Given the description of an element on the screen output the (x, y) to click on. 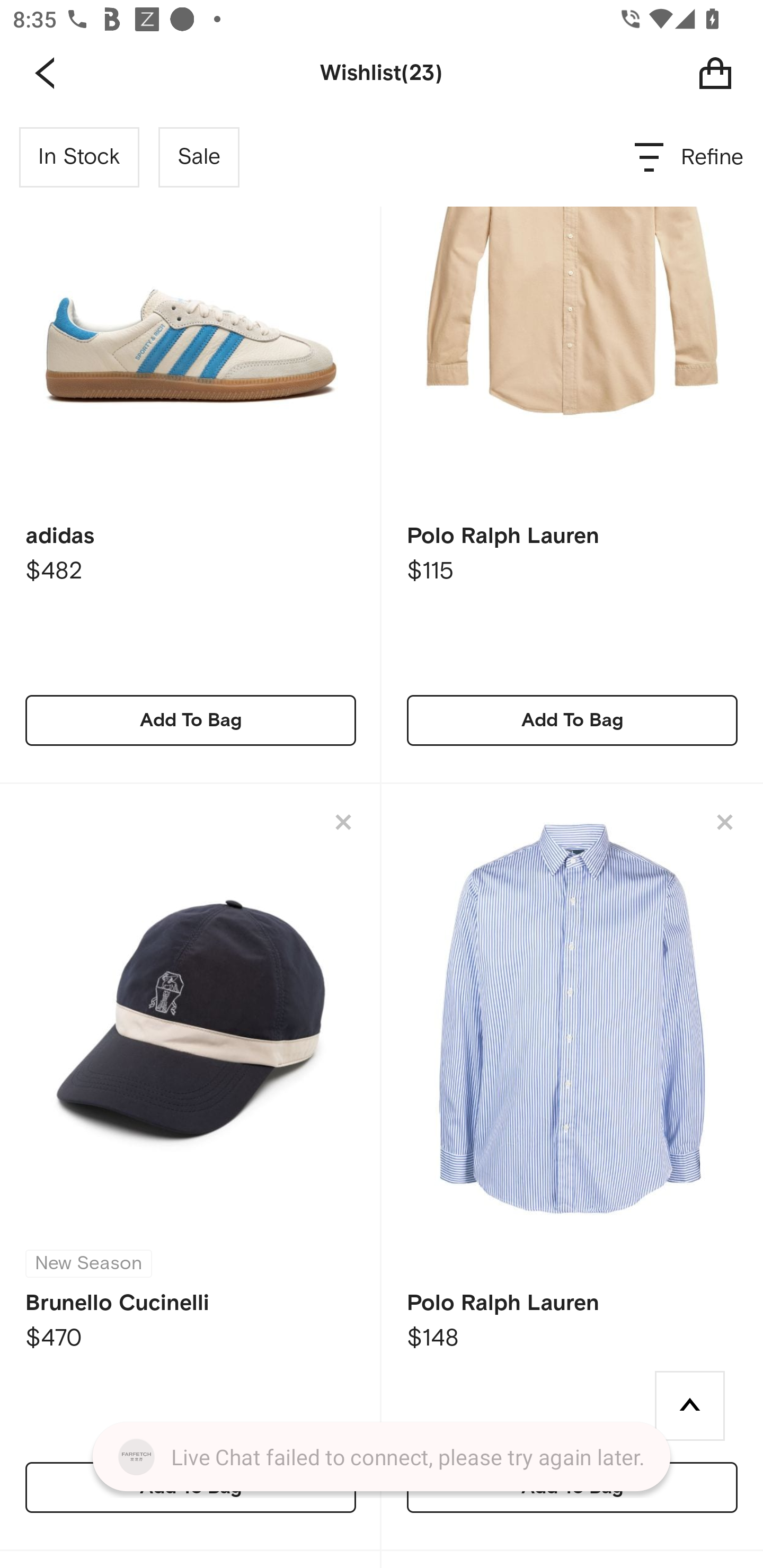
adidas $482 Add To Bag (190, 446)
Polo Ralph Lauren $115 Add To Bag (572, 446)
In Stock (79, 157)
Sale (198, 157)
Refine (690, 157)
Add To Bag (190, 720)
Add To Bag (571, 720)
New Season Brunello Cucinelli $470 Add To Bag (190, 1167)
Polo Ralph Lauren $148 Add To Bag (572, 1167)
